Given the description of an element on the screen output the (x, y) to click on. 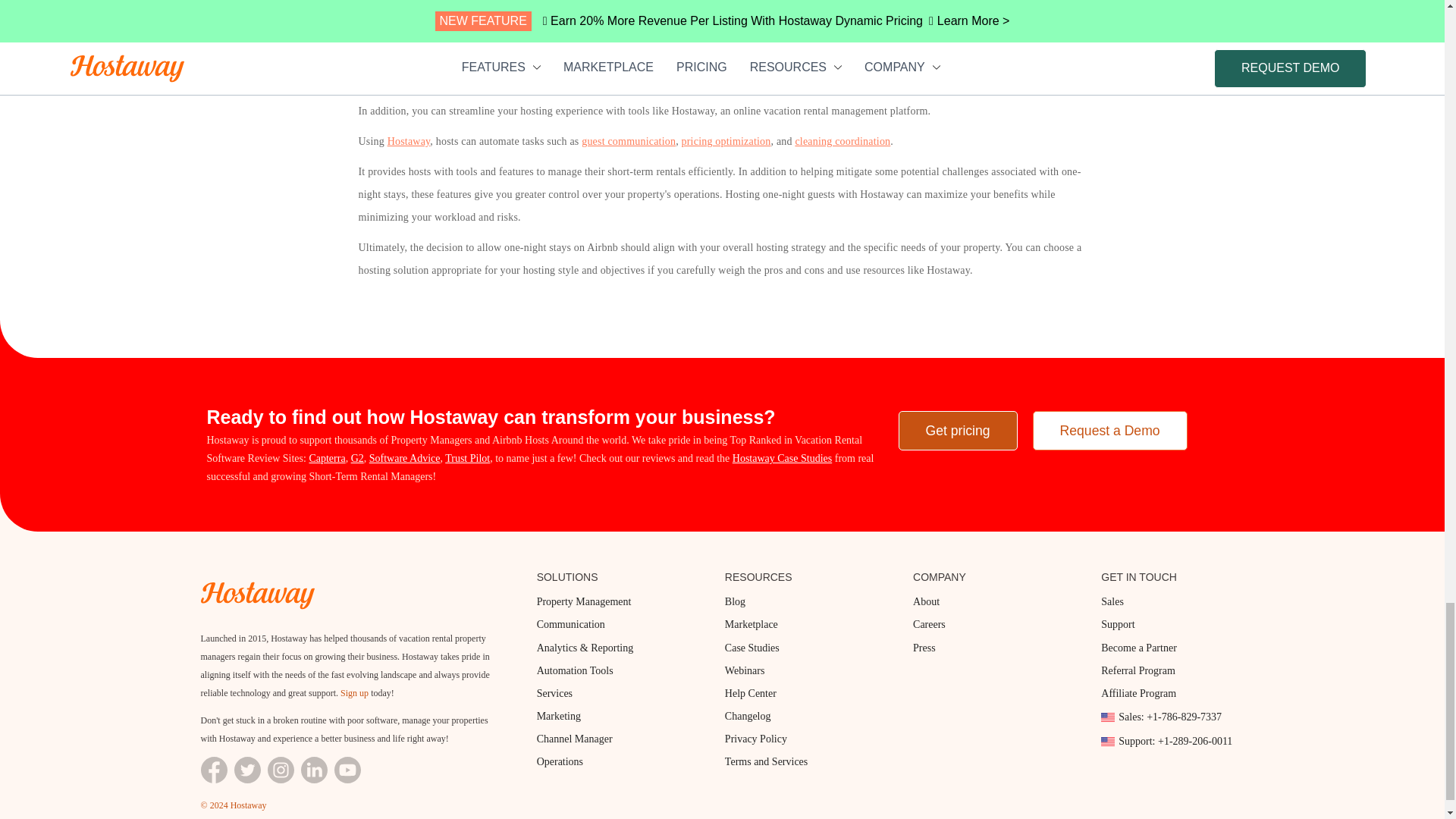
Request a Demo (1110, 430)
Hostaway Case Studies (781, 458)
Trust Pilot (467, 458)
Get pricing (957, 430)
Software Advice (405, 458)
Hostaway (408, 141)
pricing optimization (726, 141)
guest communication (627, 141)
G2 (357, 458)
Sign up (354, 692)
